Given the description of an element on the screen output the (x, y) to click on. 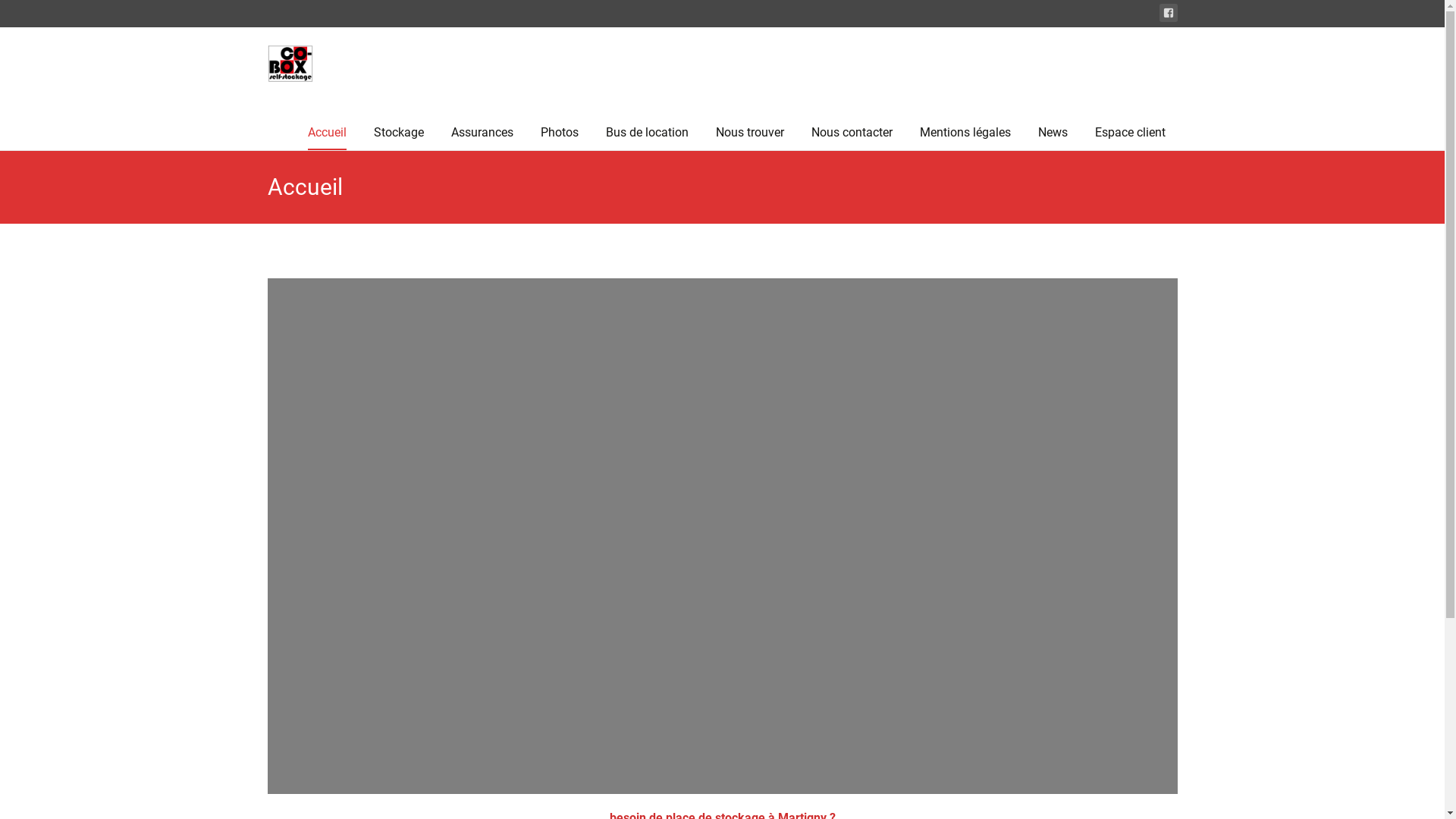
Skip to content Element type: text (294, 114)
Nous trouver Element type: text (749, 132)
facebook Element type: hover (1167, 12)
Photos Element type: text (558, 132)
Stockage Element type: text (398, 132)
News Element type: text (1051, 132)
Assurances Element type: text (481, 132)
Bus de location Element type: text (646, 132)
Nous contacter Element type: text (851, 132)
Espace client Element type: text (1130, 132)
Accueil Element type: text (326, 132)
